Given the description of an element on the screen output the (x, y) to click on. 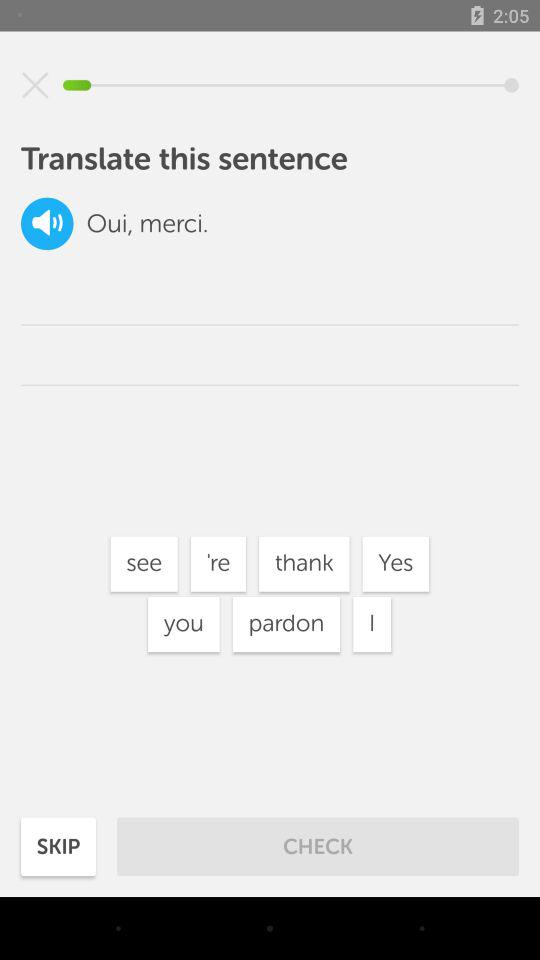
click the item next to thank (218, 563)
